Given the description of an element on the screen output the (x, y) to click on. 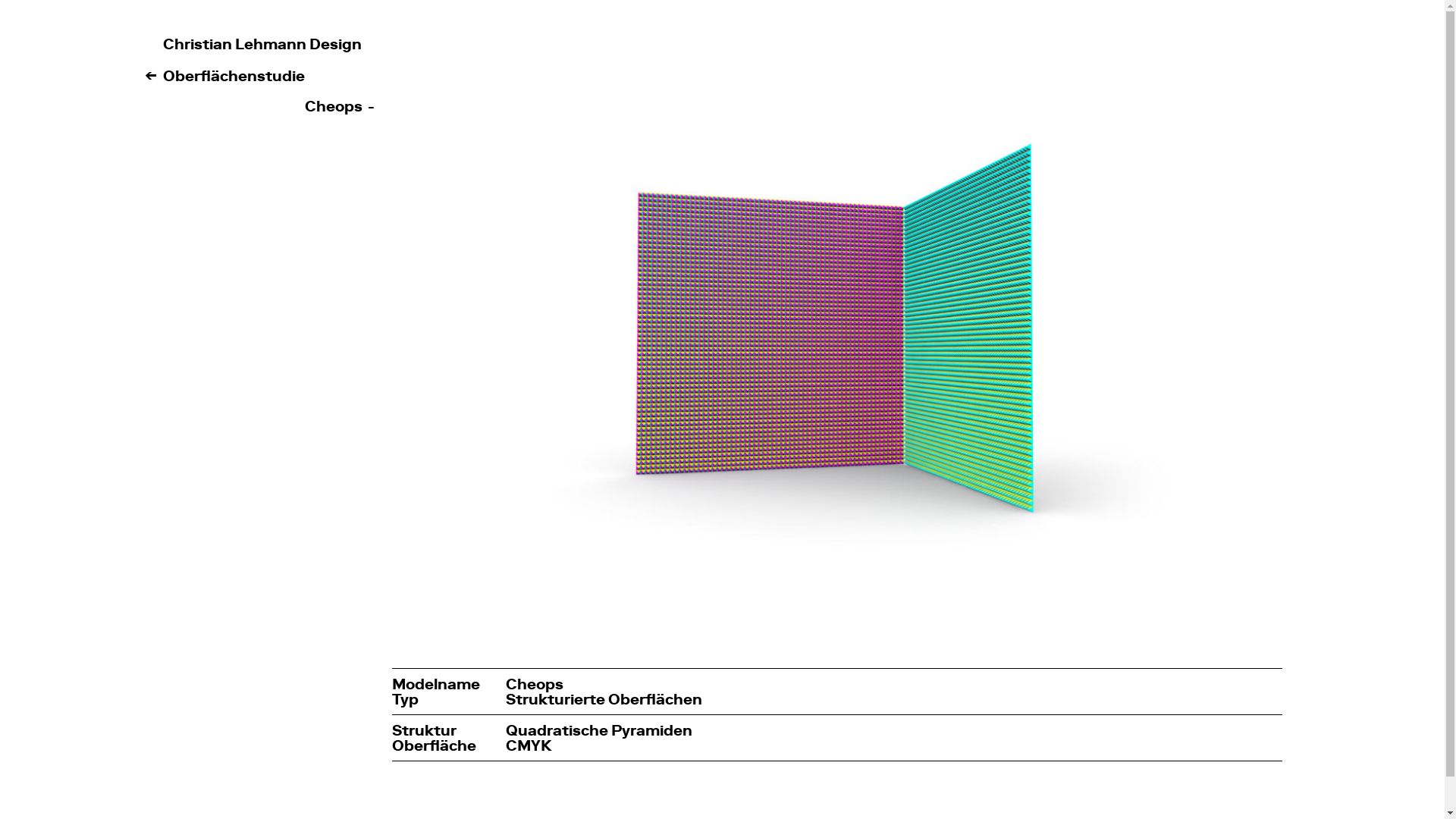
Cheops Element type: text (333, 106)
Christian Lehmann Design Element type: text (261, 43)
